Given the description of an element on the screen output the (x, y) to click on. 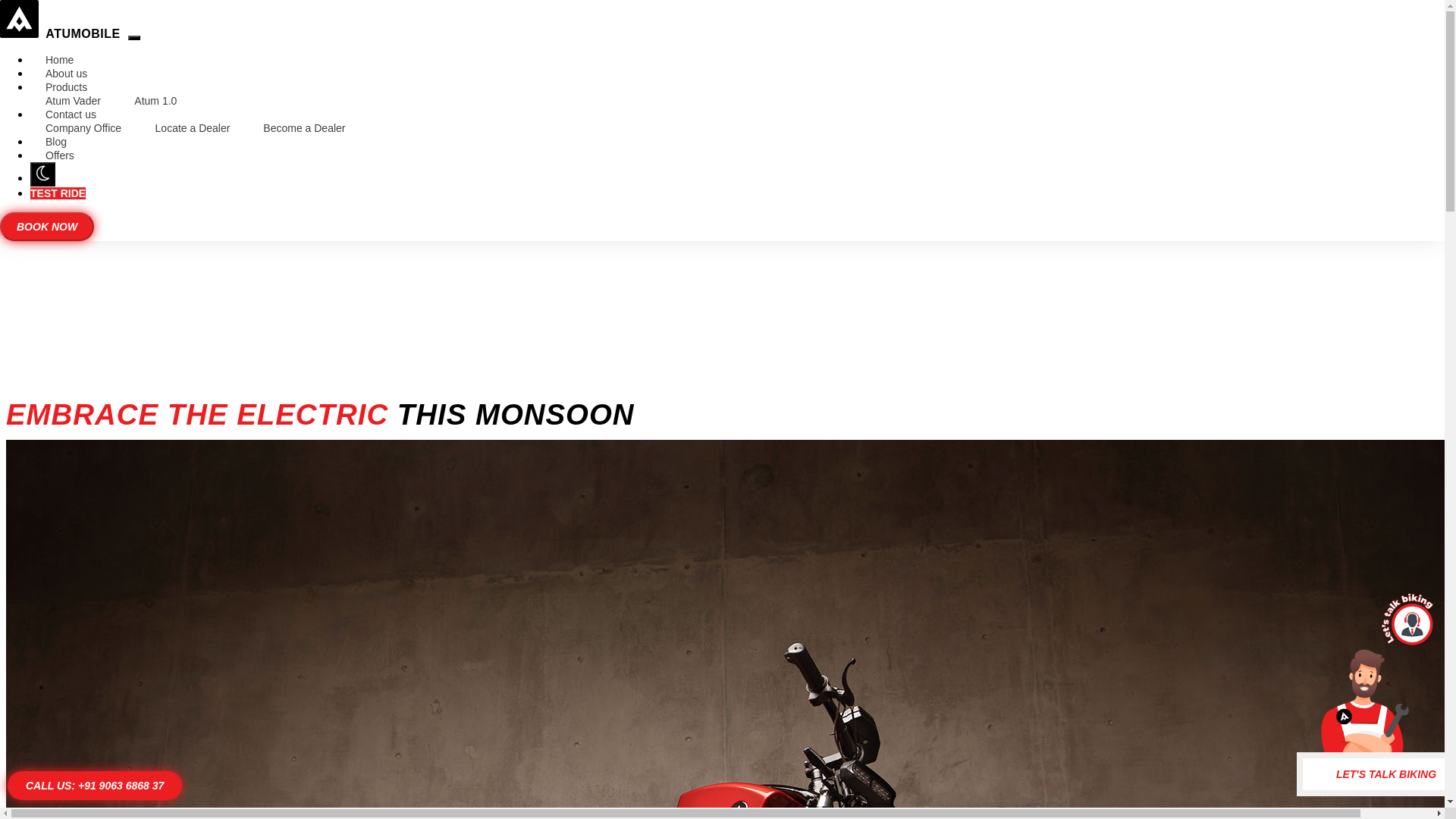
Atum 1.0 (155, 100)
Blog (55, 141)
Offers (59, 154)
Dark Mode (42, 174)
Products (65, 86)
Contact us (71, 113)
About us (65, 72)
Company Office (83, 127)
Locate a Dealer (193, 127)
Become a Dealer (303, 127)
BOOK NOW (47, 226)
Atum Vader (73, 100)
Home (59, 59)
TEST RIDE (57, 193)
